Given the description of an element on the screen output the (x, y) to click on. 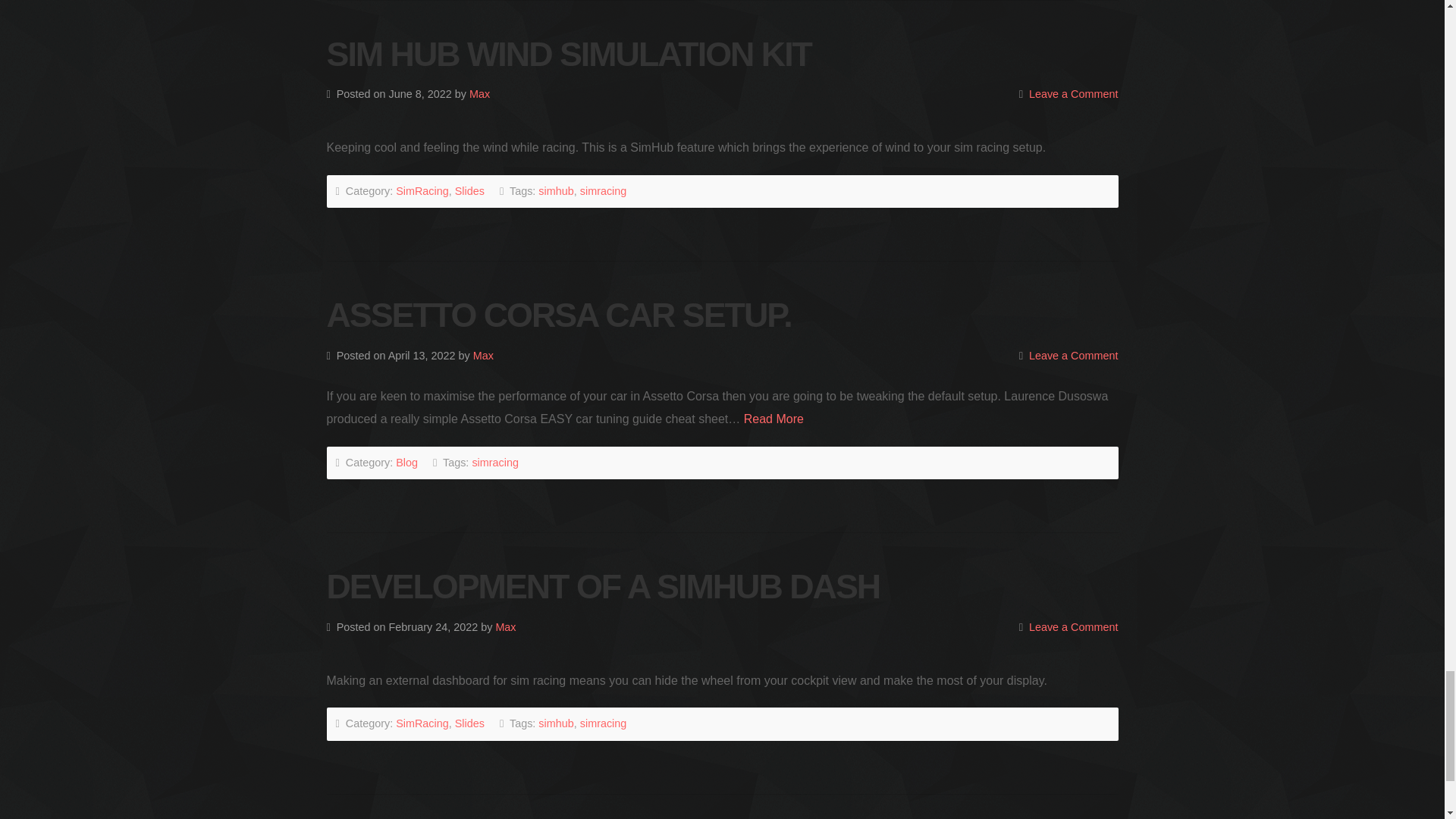
Posts by Max (478, 93)
